Given the description of an element on the screen output the (x, y) to click on. 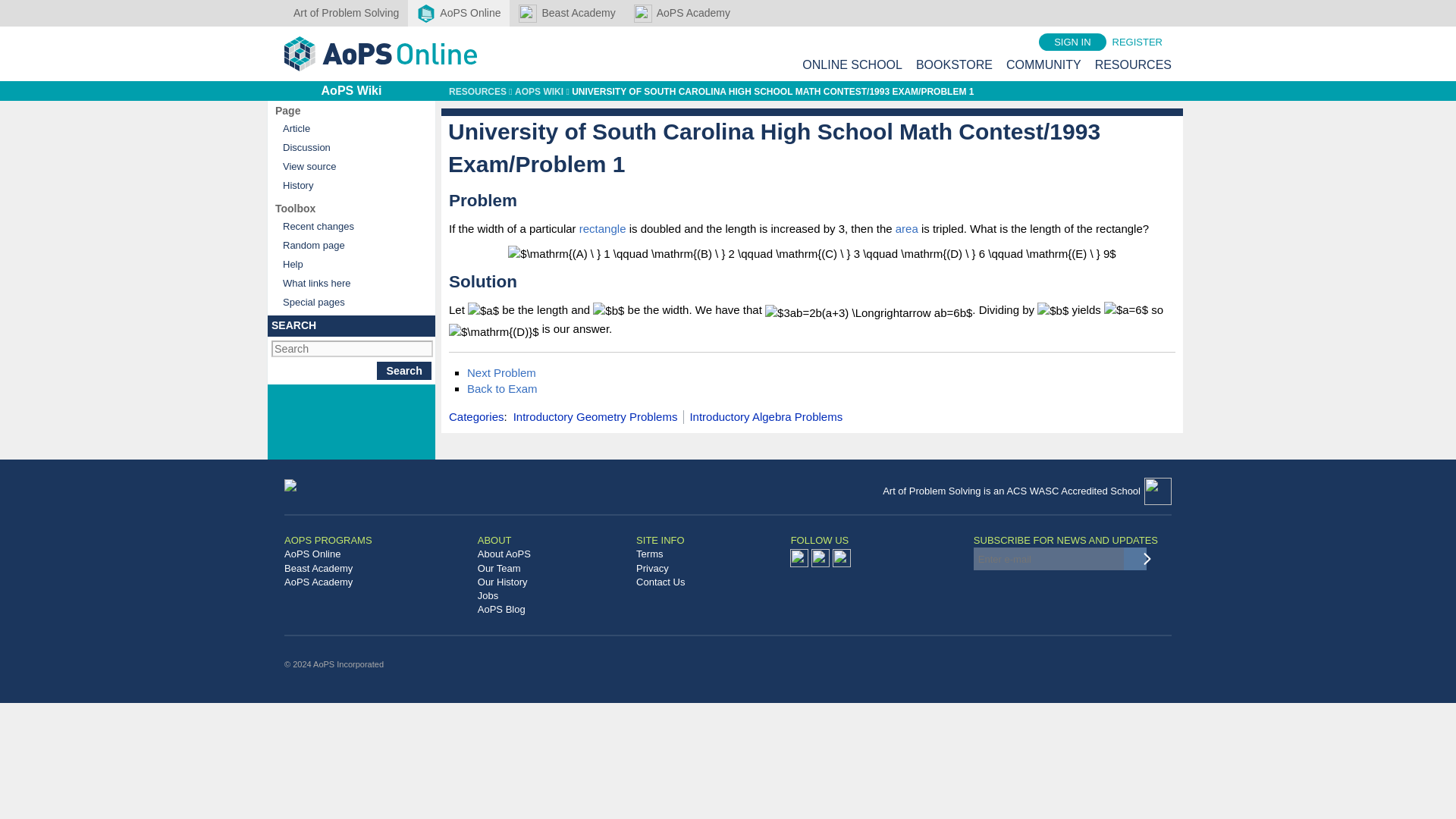
View the content page  (350, 128)
AoPS Online (458, 13)
Search the pages for this text (403, 370)
Rectangle (602, 228)
RESOURCES (1133, 64)
A list of all special pages  (350, 302)
A list of all wiki pages that link here  (350, 282)
Past revisions of this page  (350, 185)
A list of recent changes in the wiki  (350, 226)
Category:Introductory Geometry Problems (595, 415)
